Given the description of an element on the screen output the (x, y) to click on. 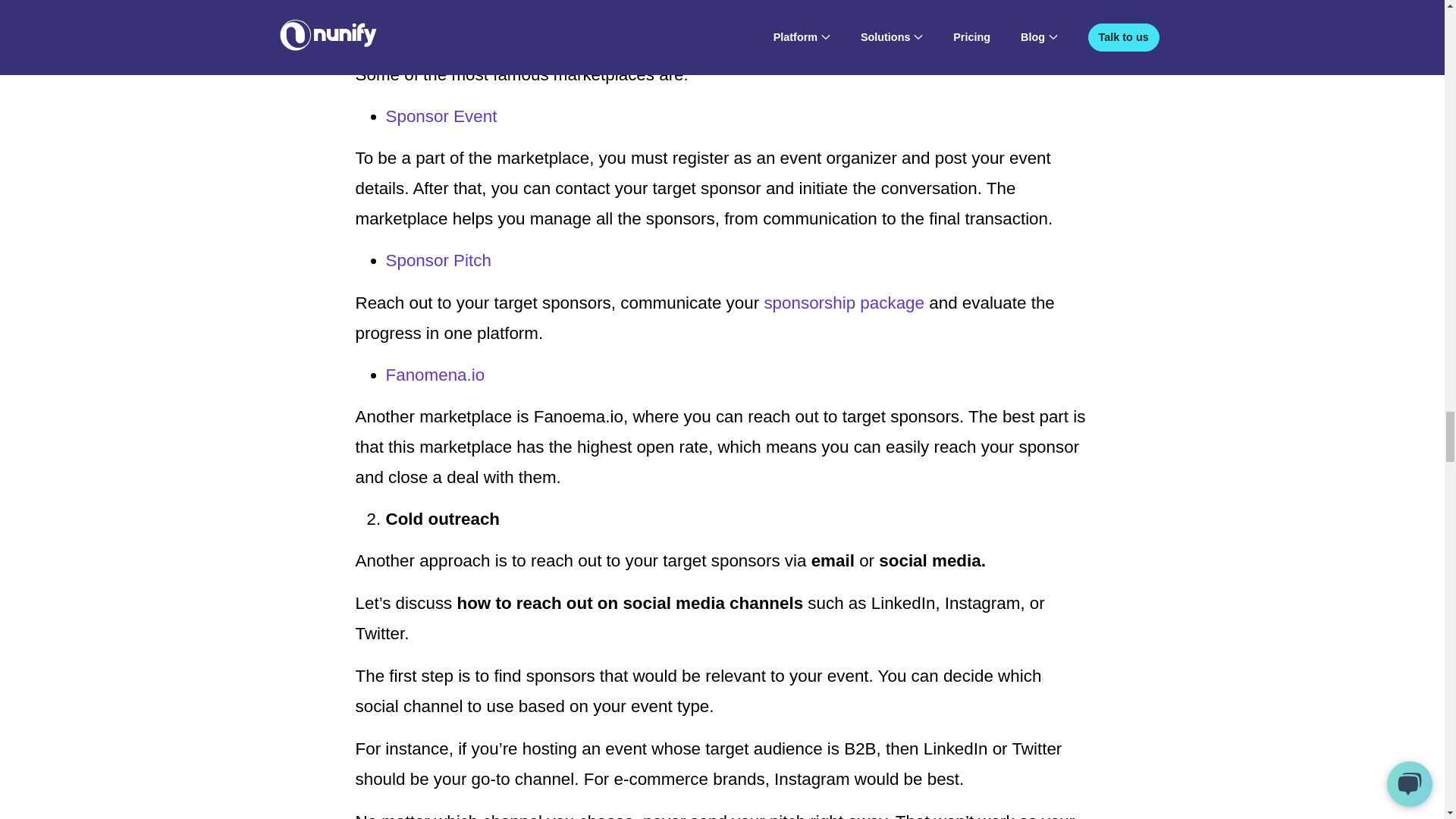
Fanomena.io (434, 374)
Sponsor Pitch (437, 260)
sponsorship package (843, 302)
Sponsor Event (440, 116)
